Given the description of an element on the screen output the (x, y) to click on. 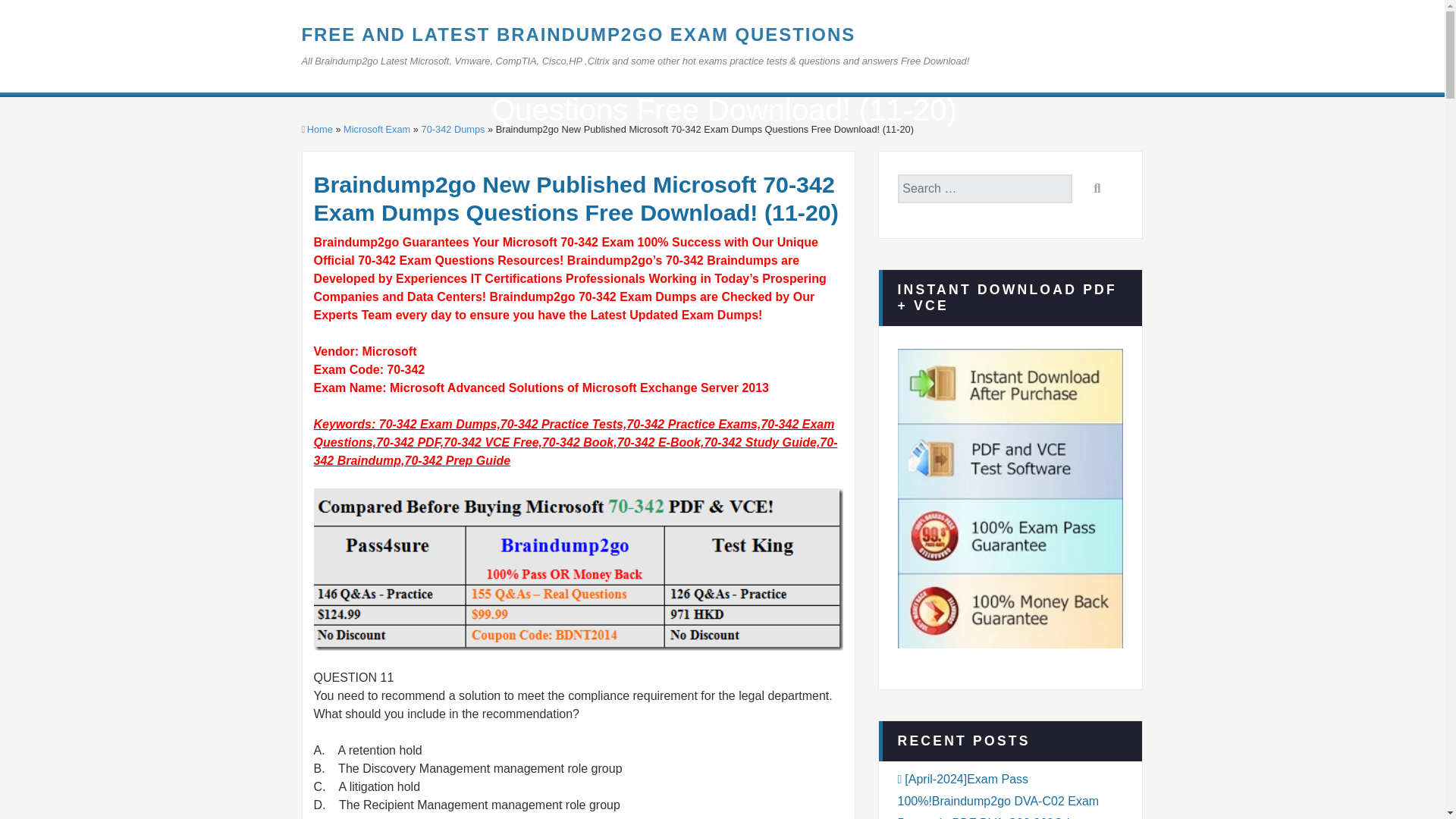
Microsoft Exam (376, 129)
Home (317, 129)
70-342 Dumps (453, 129)
FREE AND LATEST BRAINDUMP2GO EXAM QUESTIONS (578, 34)
